Given the description of an element on the screen output the (x, y) to click on. 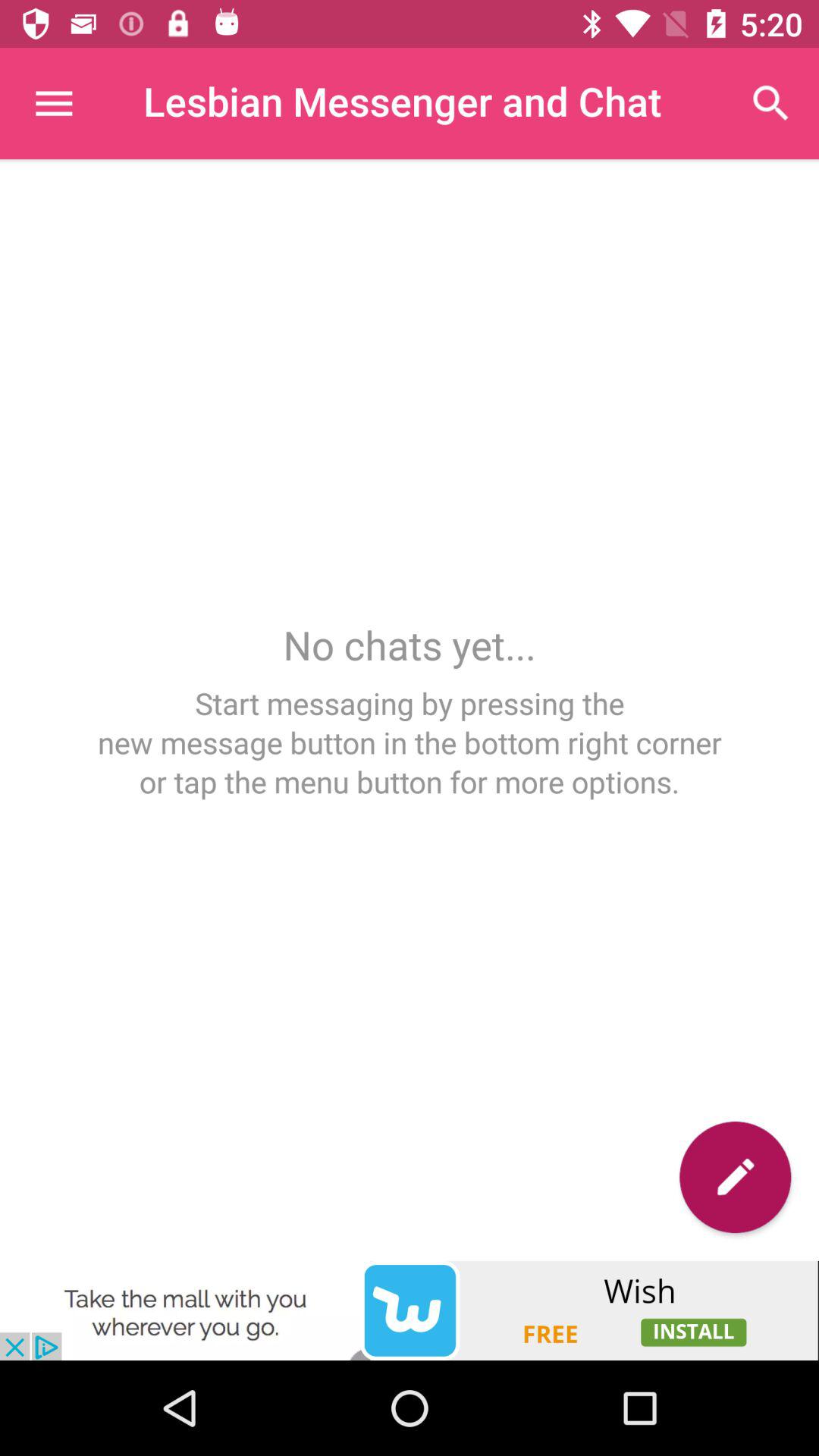
clicks the advertisement (409, 1310)
